Given the description of an element on the screen output the (x, y) to click on. 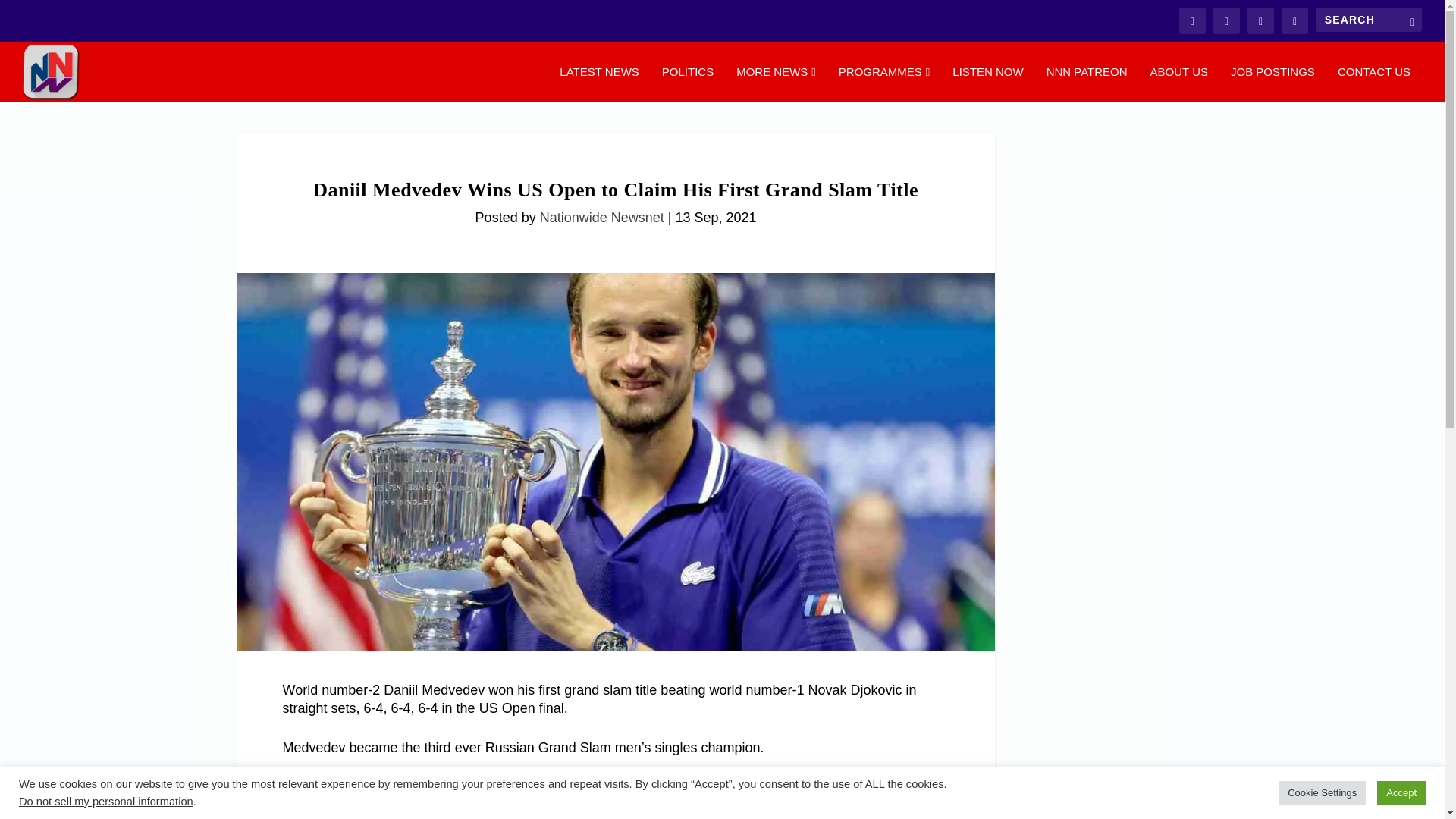
LISTEN NOW (987, 83)
PROGRAMMES (884, 83)
Posts by Nationwide Newsnet (601, 217)
POLITICS (687, 83)
MORE NEWS (775, 83)
ABOUT US (1179, 83)
LATEST NEWS (599, 83)
Search for: (1369, 19)
NNN PATREON (1086, 83)
JOB POSTINGS (1272, 83)
